Given the description of an element on the screen output the (x, y) to click on. 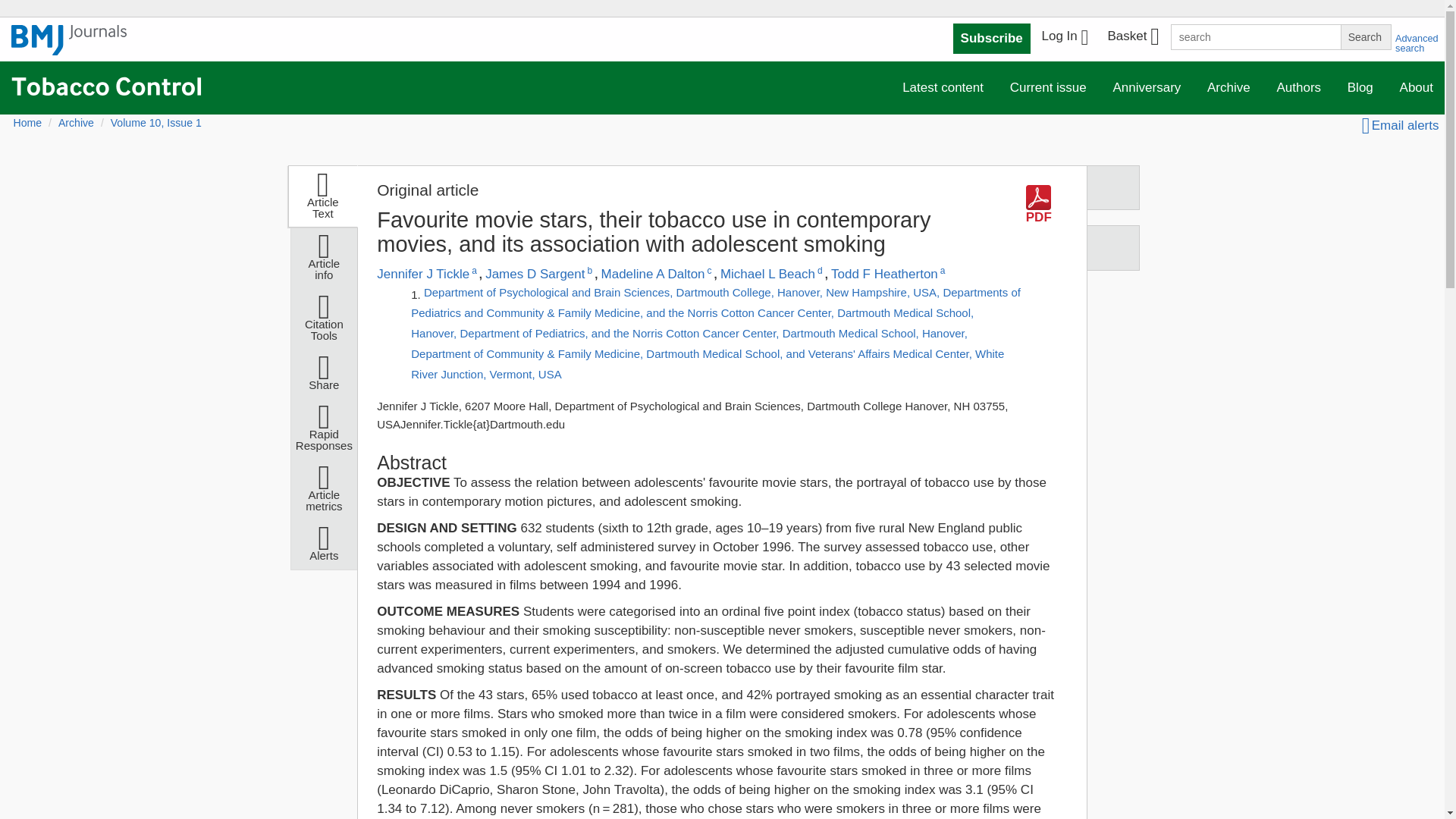
Anniversary (1147, 87)
Search (1364, 36)
Current issue (1047, 87)
Basket (1132, 38)
Log In (1064, 38)
Search (1364, 36)
Subscribe (991, 38)
Archive (1228, 87)
Blog (1360, 87)
BMJ Journals (68, 40)
Latest content (942, 87)
Advanced search (1416, 43)
BMJ Journals (68, 47)
Authors (1298, 87)
